Given the description of an element on the screen output the (x, y) to click on. 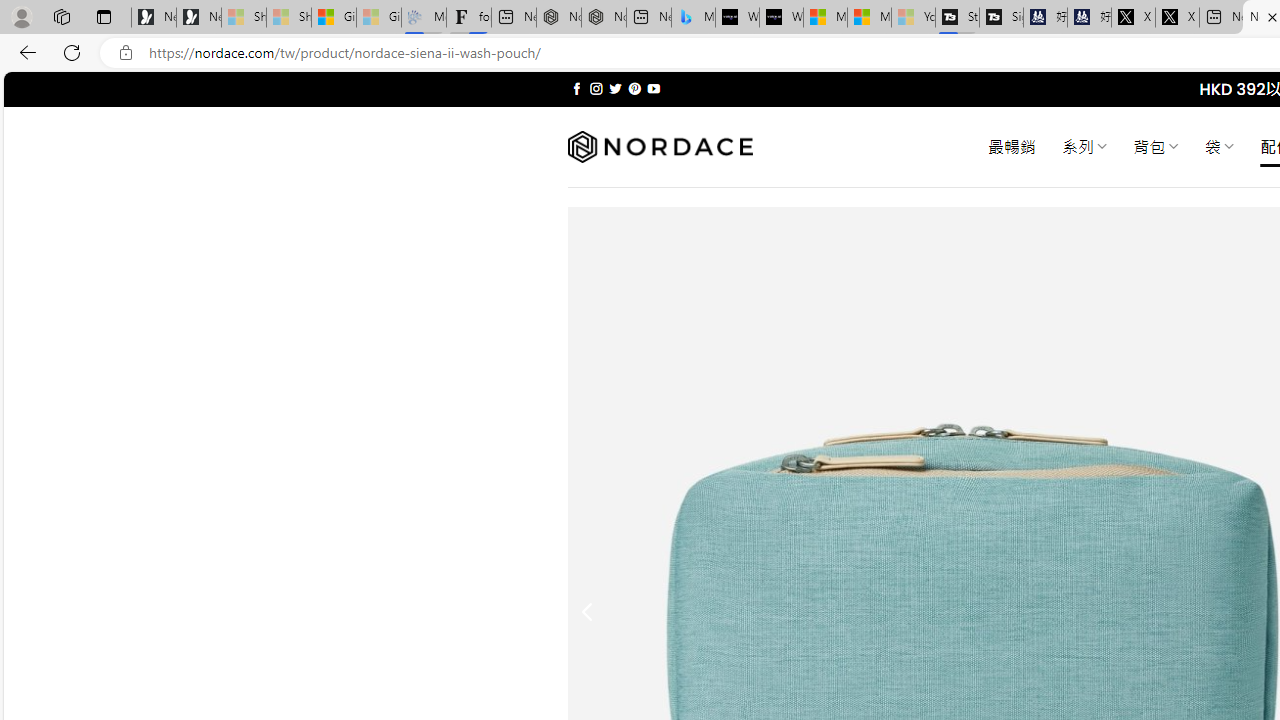
Follow on Facebook (576, 88)
Nordace - #1 Japanese Best-Seller - Siena Smart Backpack (603, 17)
Microsoft Bing Travel - Shangri-La Hotel Bangkok (693, 17)
Follow on Instagram (596, 88)
Follow on Twitter (615, 88)
X (1177, 17)
